Given the description of an element on the screen output the (x, y) to click on. 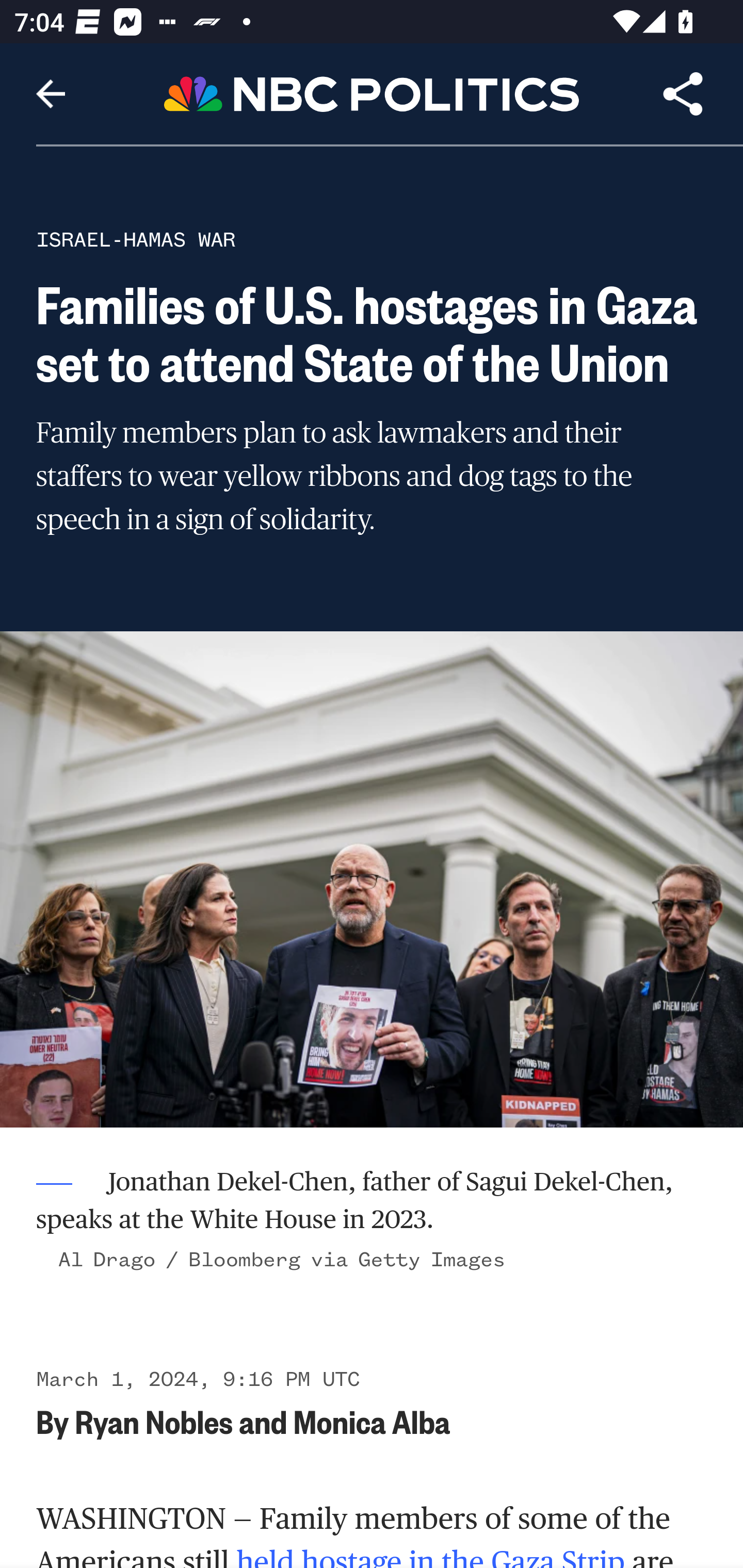
Navigate up (50, 93)
Share Article, button (683, 94)
Header, NBC Politics (371, 93)
ISRAEL-HAMAS WAR (136, 239)
